Given the description of an element on the screen output the (x, y) to click on. 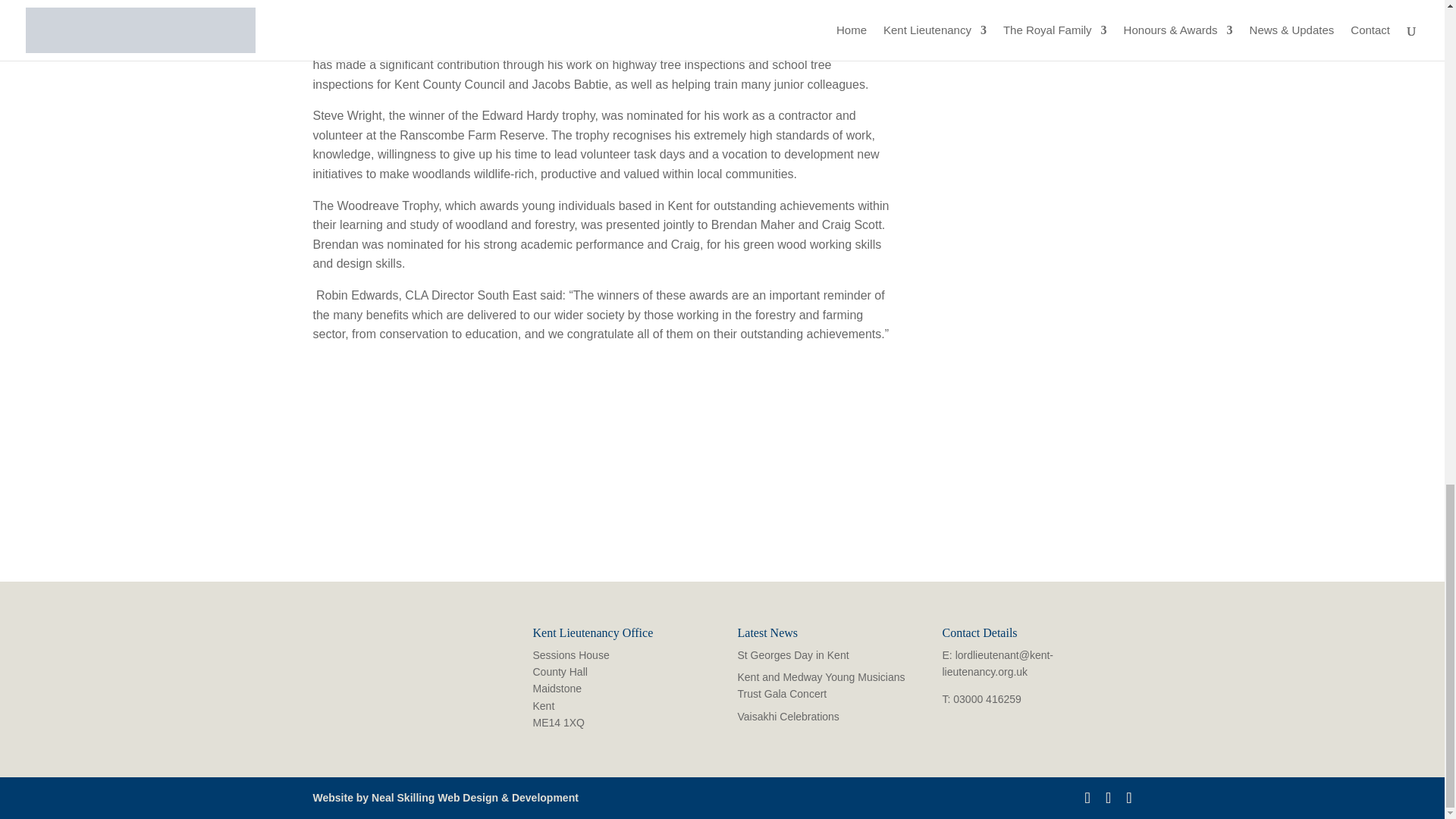
Kent and Medway Young Musicians Trust Gala Concert (820, 685)
Vaisakhi Celebrations (787, 716)
St Georges Day in Kent (792, 654)
